Given the description of an element on the screen output the (x, y) to click on. 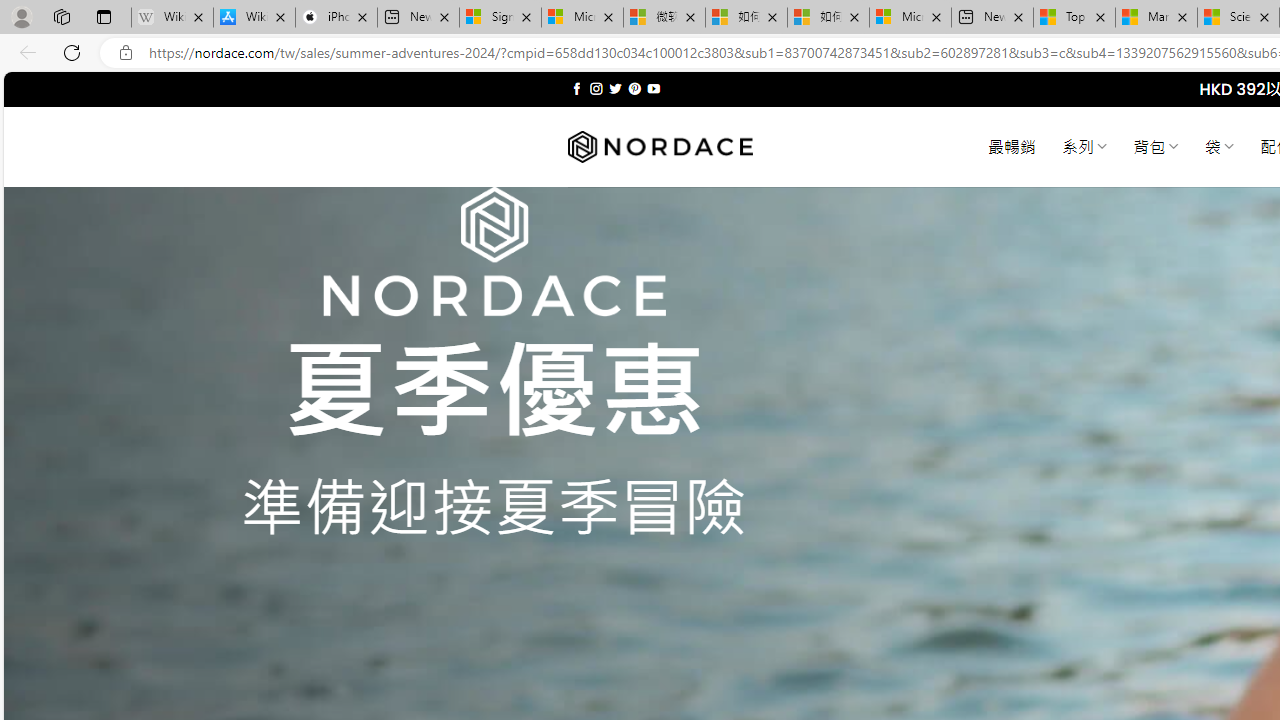
Follow on Instagram (596, 88)
Follow on Twitter (615, 88)
